Given the description of an element on the screen output the (x, y) to click on. 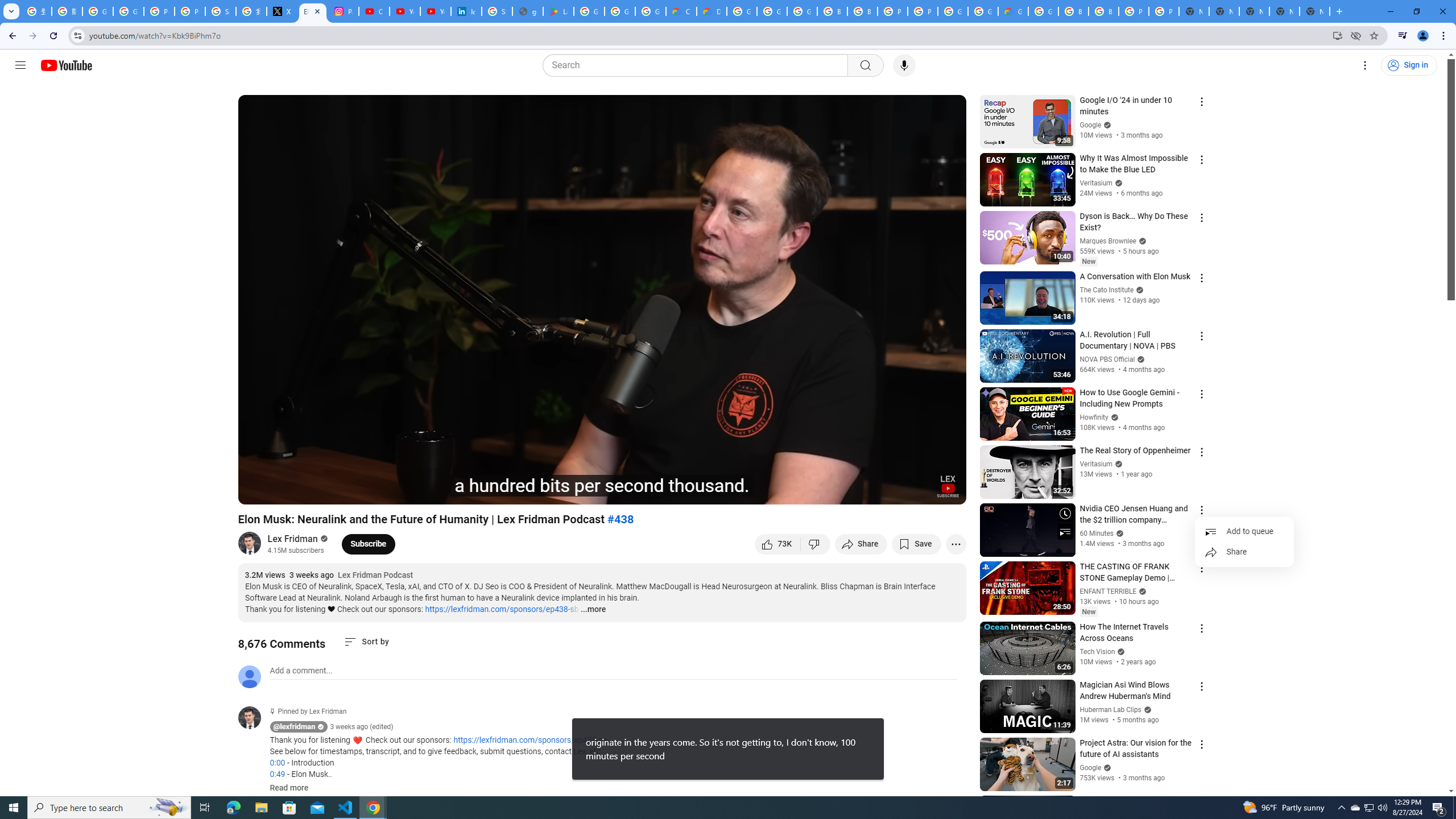
Elon Musk (403, 490)
Share (1243, 552)
Subscribe to Lex Fridman. (368, 543)
Google Cloud Platform (741, 11)
Browse Chrome as a guest - Computer - Google Chrome Help (832, 11)
3 weeks ago (edited) (361, 726)
More actions (955, 543)
...more (592, 609)
Google Cloud Platform (952, 11)
